Given the description of an element on the screen output the (x, y) to click on. 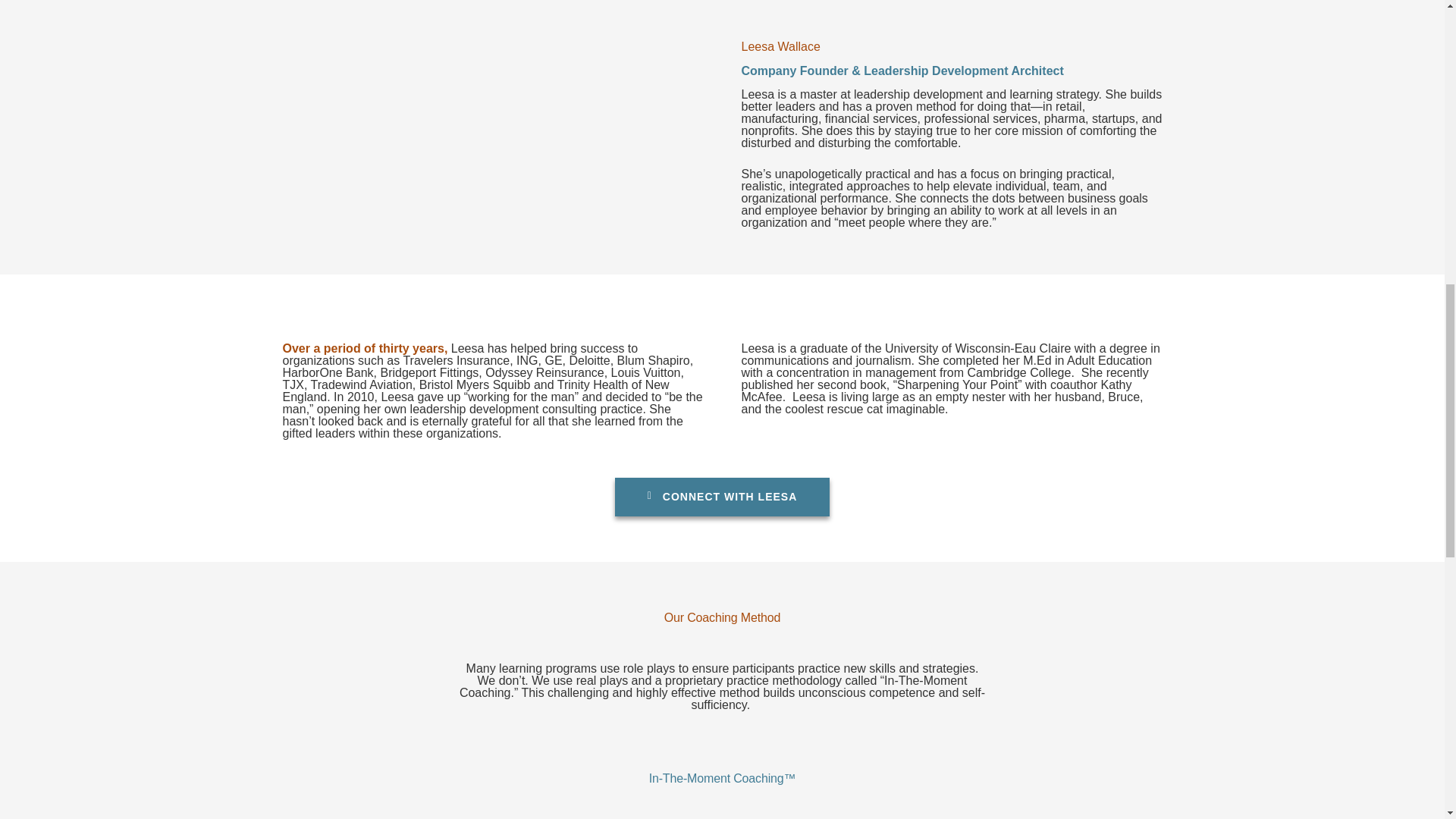
CONNECT WITH LEESA (721, 496)
